Given the description of an element on the screen output the (x, y) to click on. 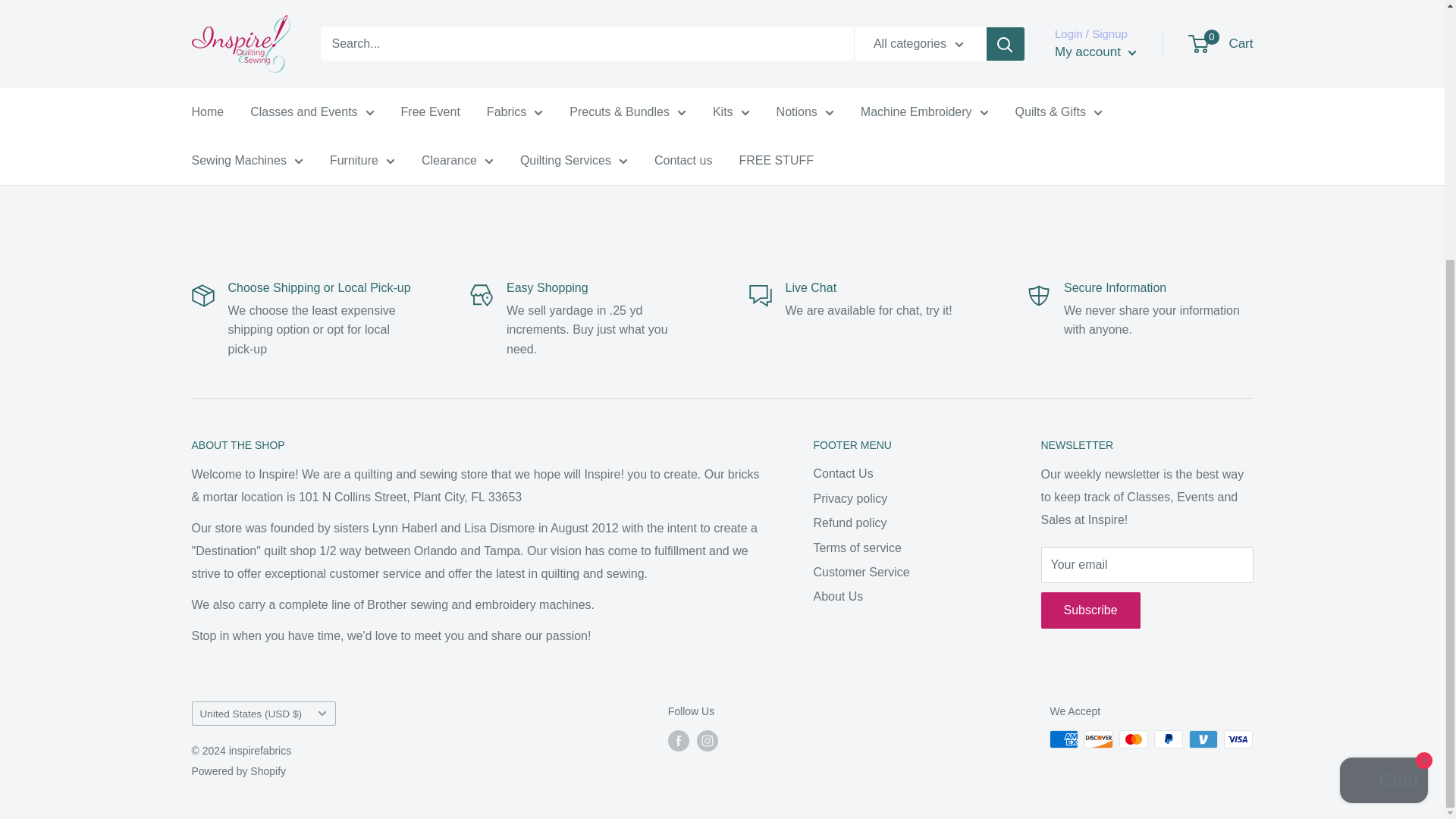
Shopify online store chat (1383, 409)
